Given the description of an element on the screen output the (x, y) to click on. 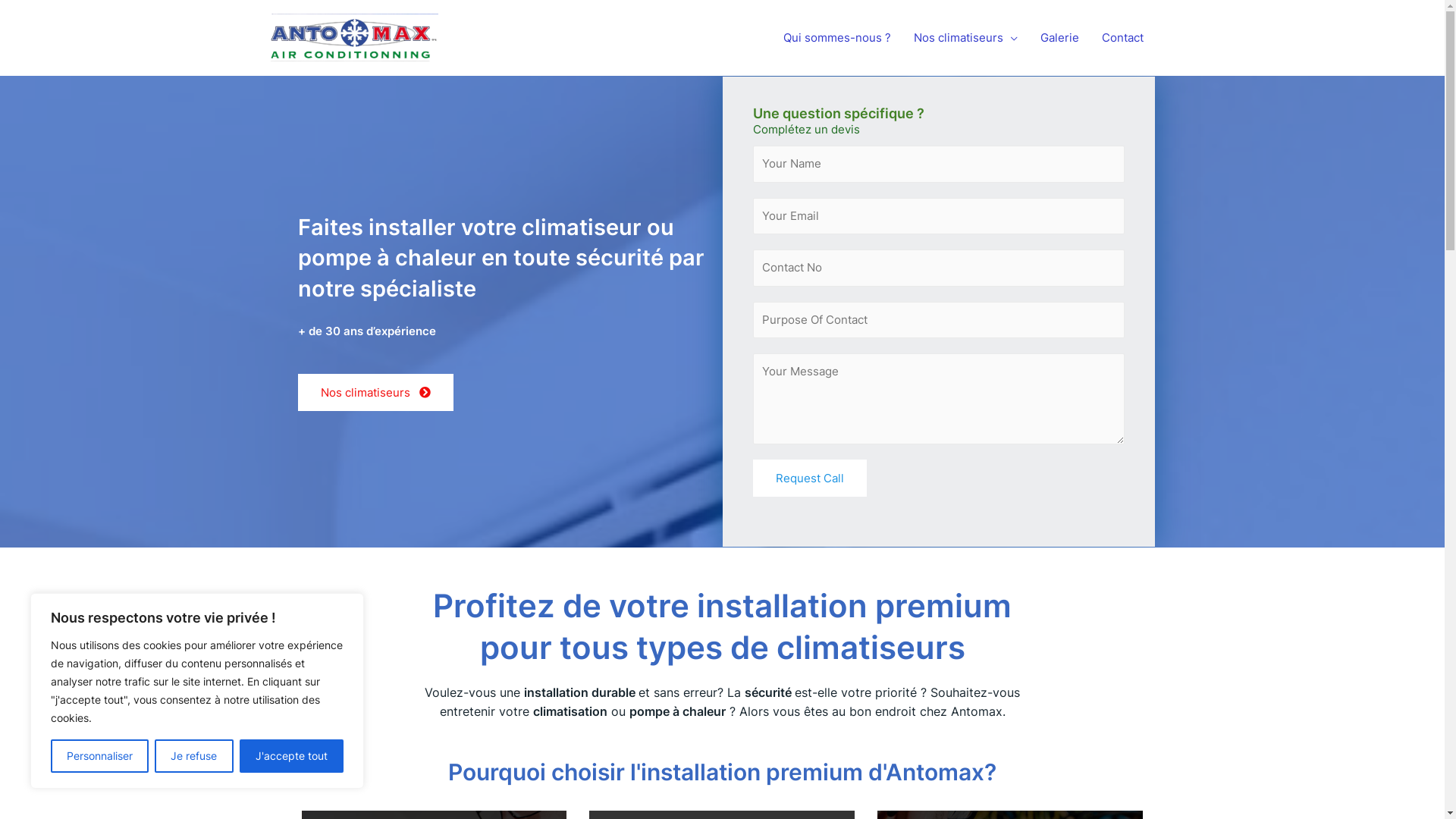
Galerie Element type: text (1058, 37)
J'accepte tout Element type: text (291, 755)
Personnaliser Element type: text (99, 755)
Je refuse Element type: text (193, 755)
Nos climatiseurs Element type: text (965, 37)
Contact Element type: text (1122, 37)
Qui sommes-nous ? Element type: text (836, 37)
Nos climatiseurs Element type: text (374, 392)
Request Call Element type: text (809, 477)
